Given the description of an element on the screen output the (x, y) to click on. 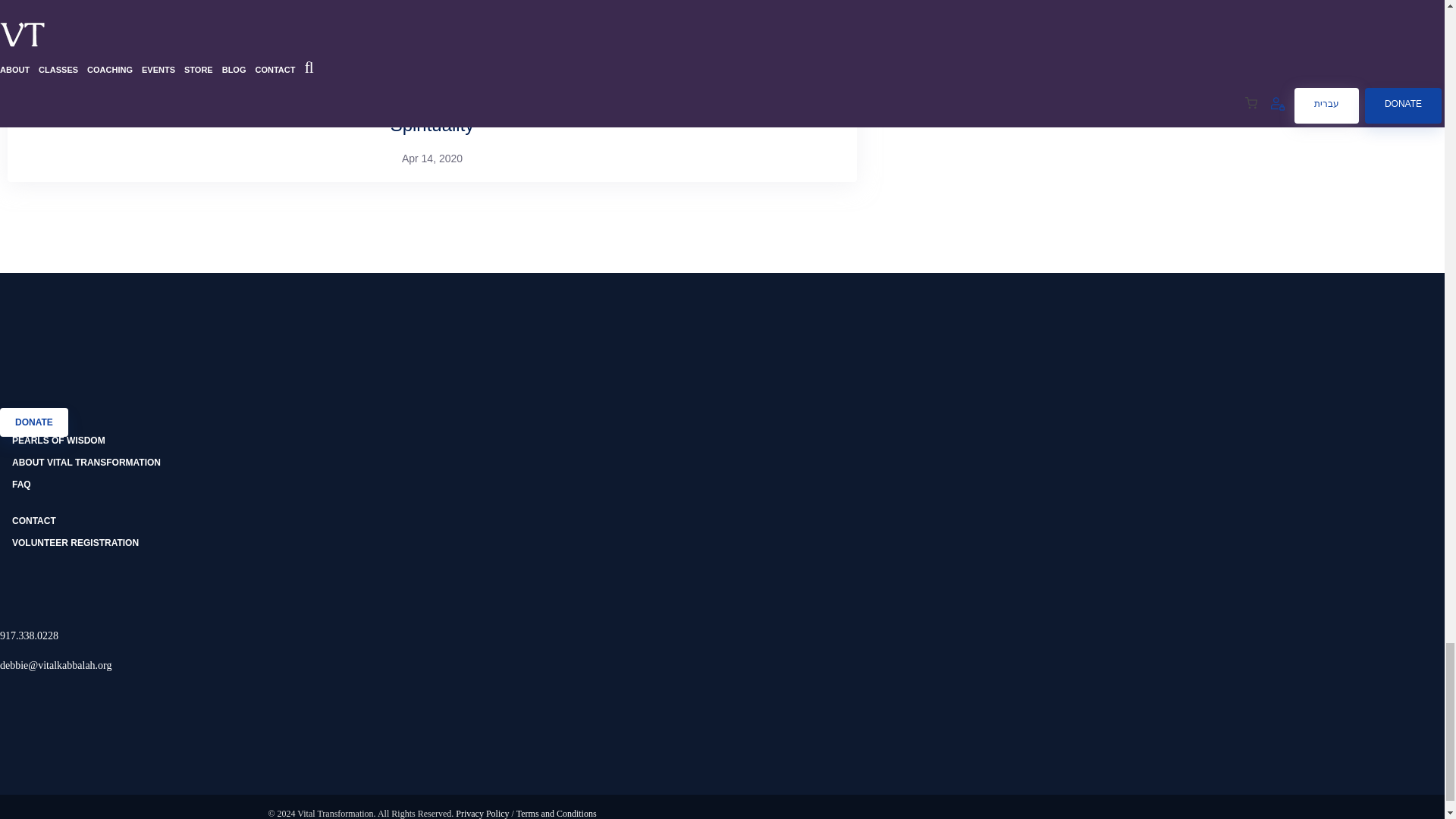
Spirituality (432, 124)
